Given the description of an element on the screen output the (x, y) to click on. 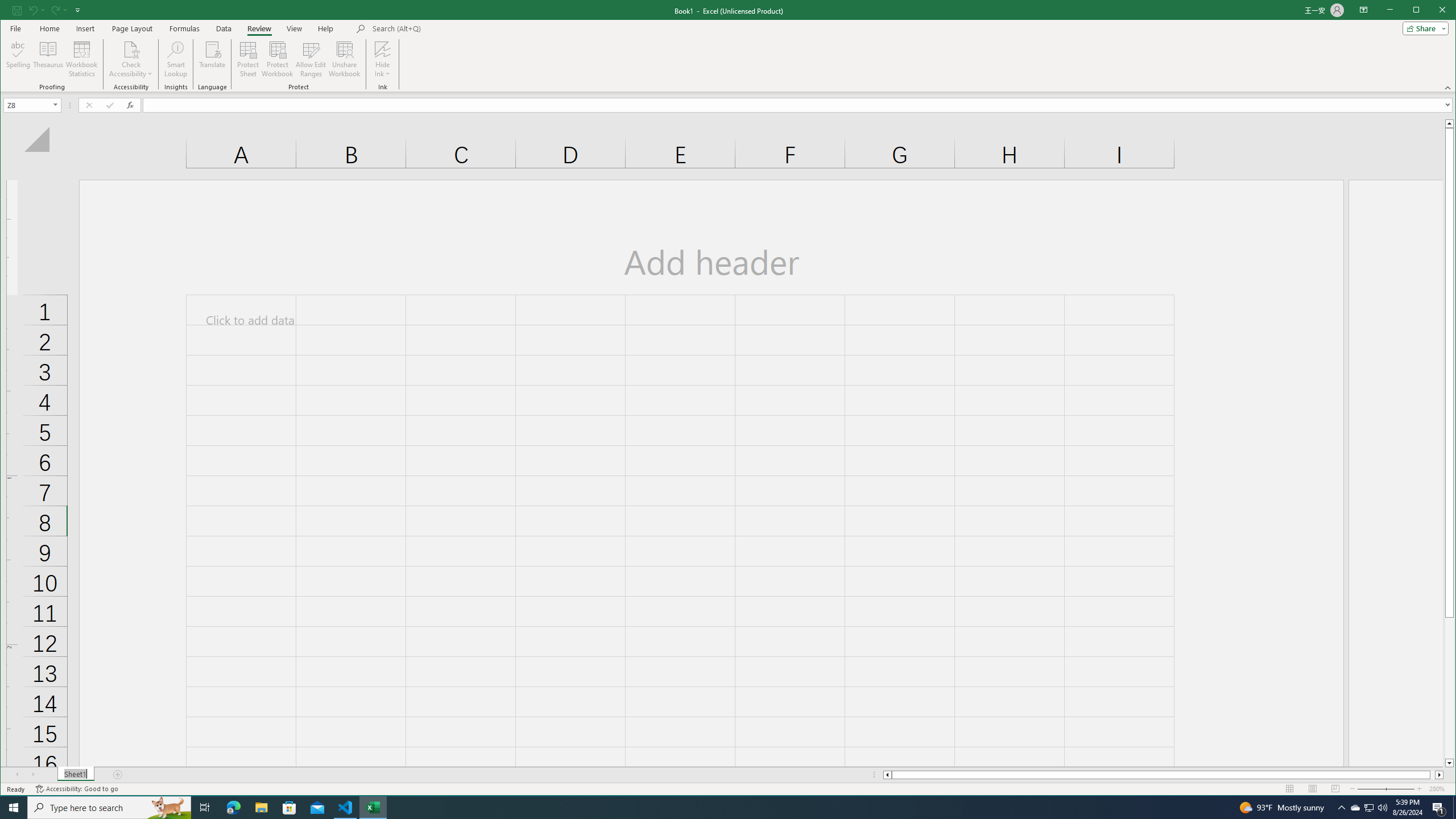
Search highlights icon opens search home window (167, 807)
Notification Chevron (1341, 807)
Normal (1289, 788)
User Promoted Notification Area (1368, 807)
Data (223, 28)
View (294, 28)
File Explorer (261, 807)
Help (325, 28)
Add Sheet (118, 774)
Translate (212, 59)
Workbook Statistics (1355, 807)
